Given the description of an element on the screen output the (x, y) to click on. 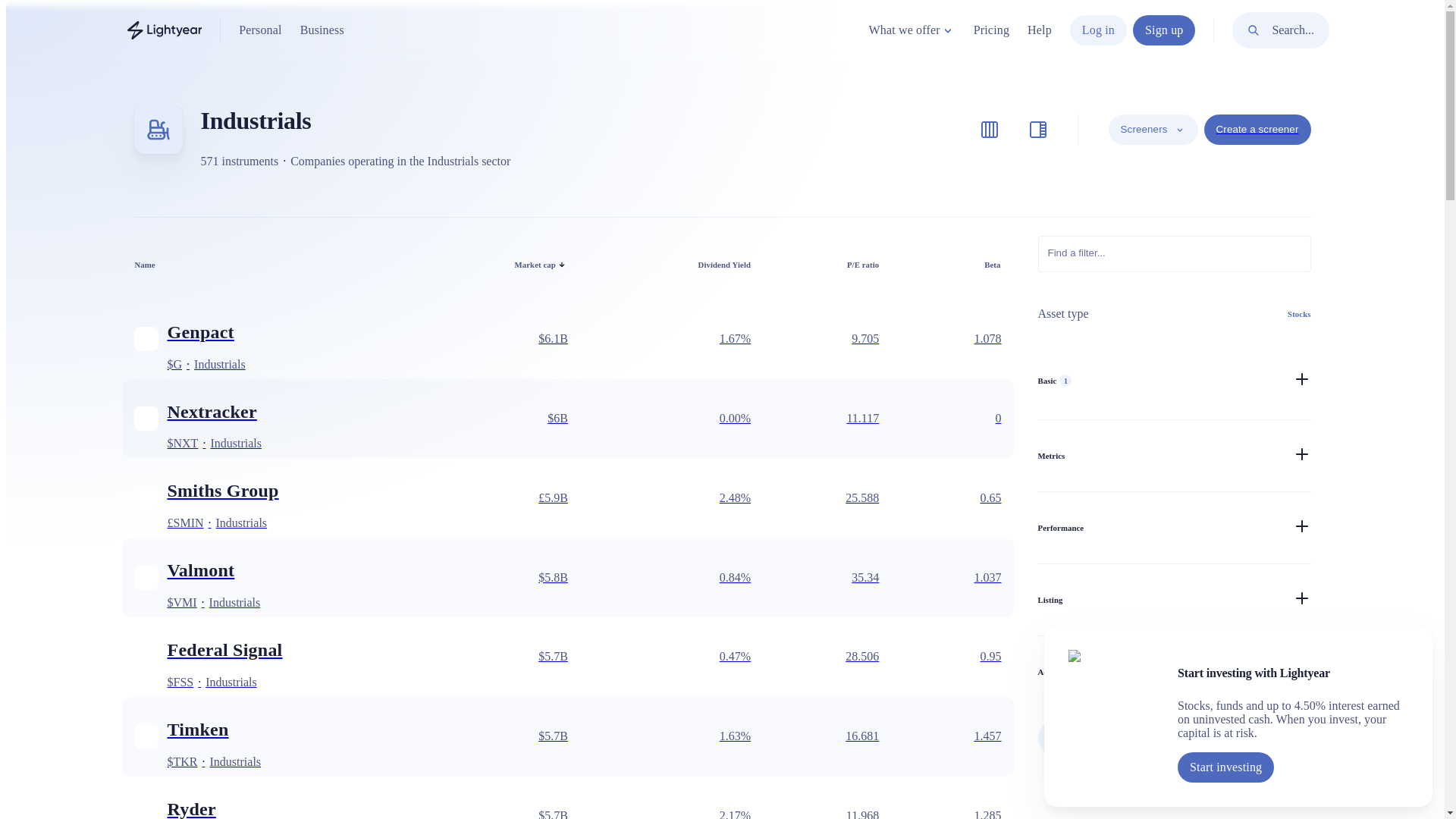
Sign up (1163, 30)
Pricing (991, 29)
Create a screener (1257, 129)
Business (321, 29)
Log in (1098, 30)
Personal (259, 29)
Screeners (1153, 129)
Help (1039, 29)
